Given the description of an element on the screen output the (x, y) to click on. 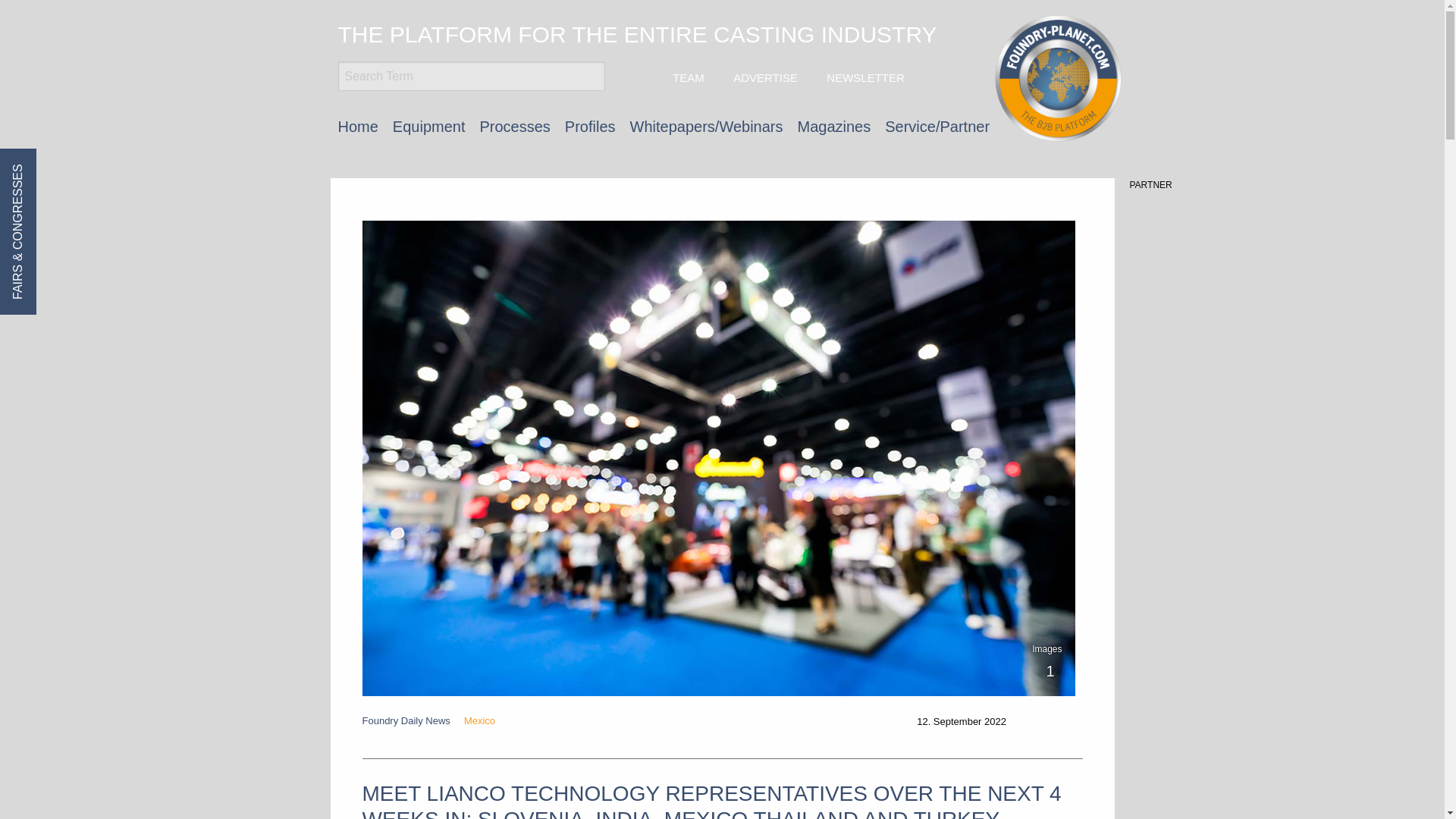
TEAM (687, 77)
Advertise (762, 77)
Profiles (589, 126)
Home (357, 126)
Magazines (833, 126)
Profiles (589, 126)
Equipment (429, 126)
Processes (514, 126)
Processes (514, 126)
ADVERTISE (762, 77)
